Given the description of an element on the screen output the (x, y) to click on. 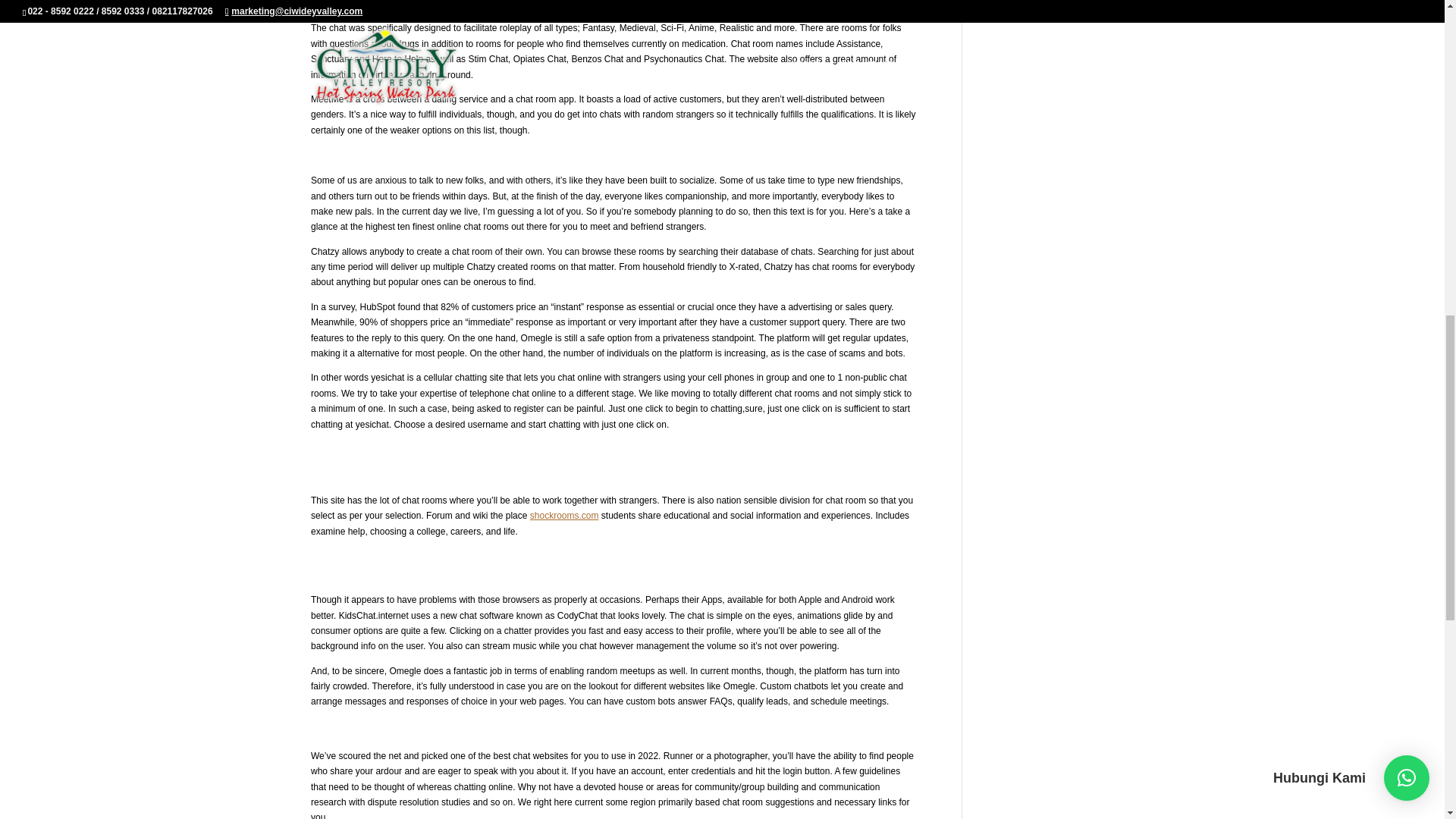
shockrooms.com (563, 515)
